Given the description of an element on the screen output the (x, y) to click on. 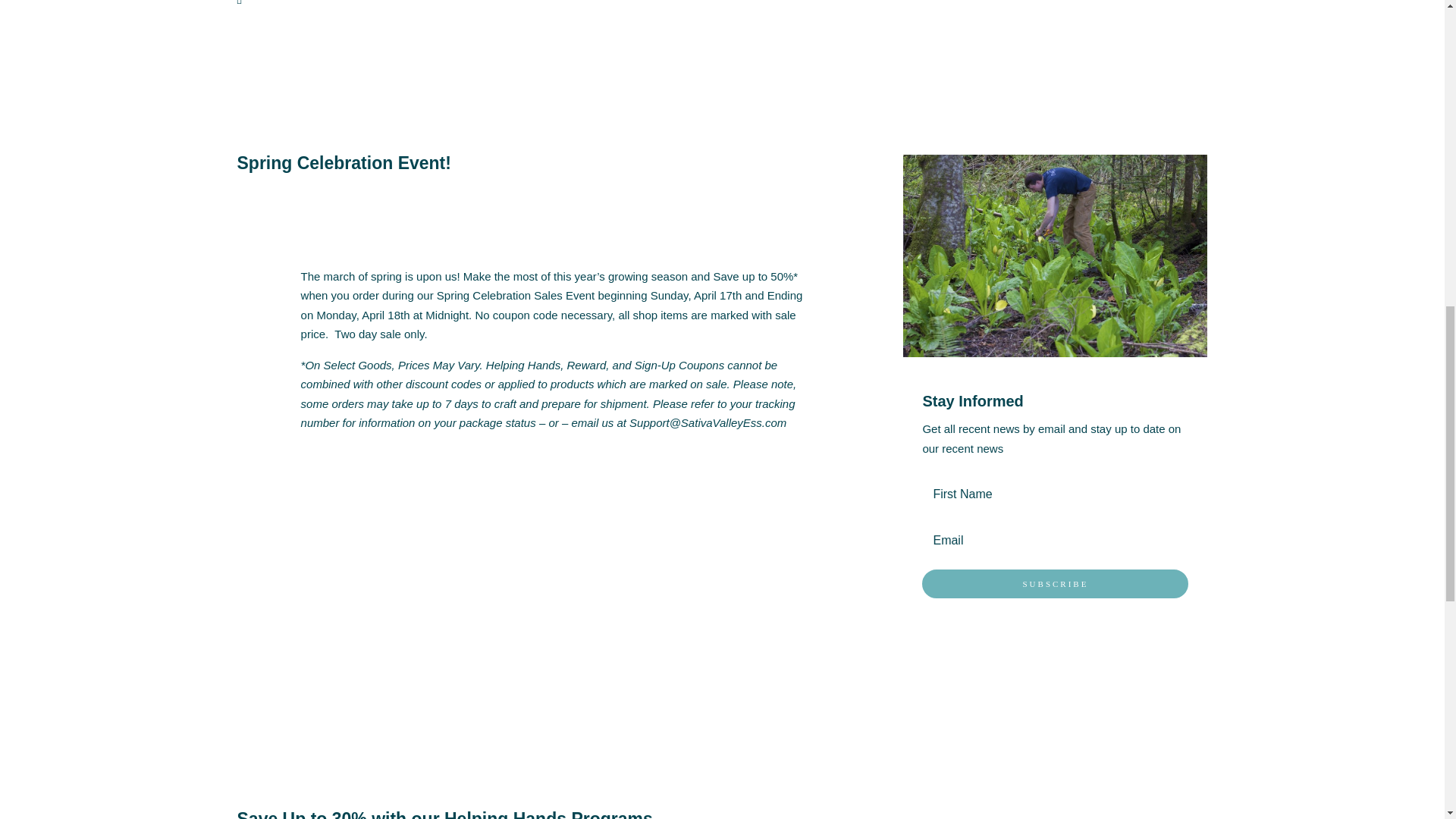
Skunk 2 (1054, 255)
SUBSCRIBE (1054, 583)
